Given the description of an element on the screen output the (x, y) to click on. 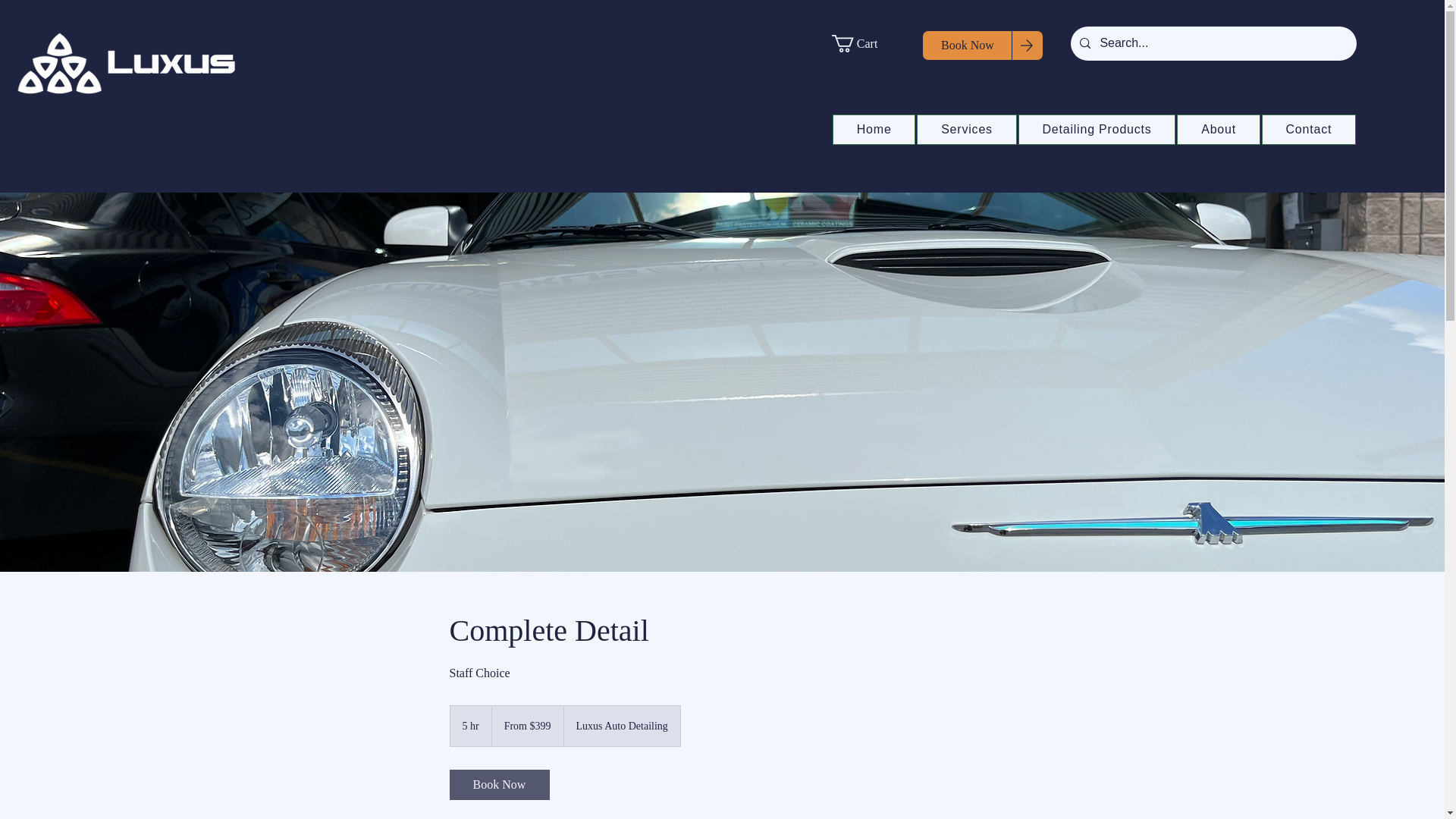
Cart (863, 43)
Book Now (498, 784)
Cart (863, 43)
Contact (1308, 129)
Services (966, 129)
Detailing Products (1096, 129)
Home (873, 129)
Book Now (967, 45)
About (1217, 129)
